Given the description of an element on the screen output the (x, y) to click on. 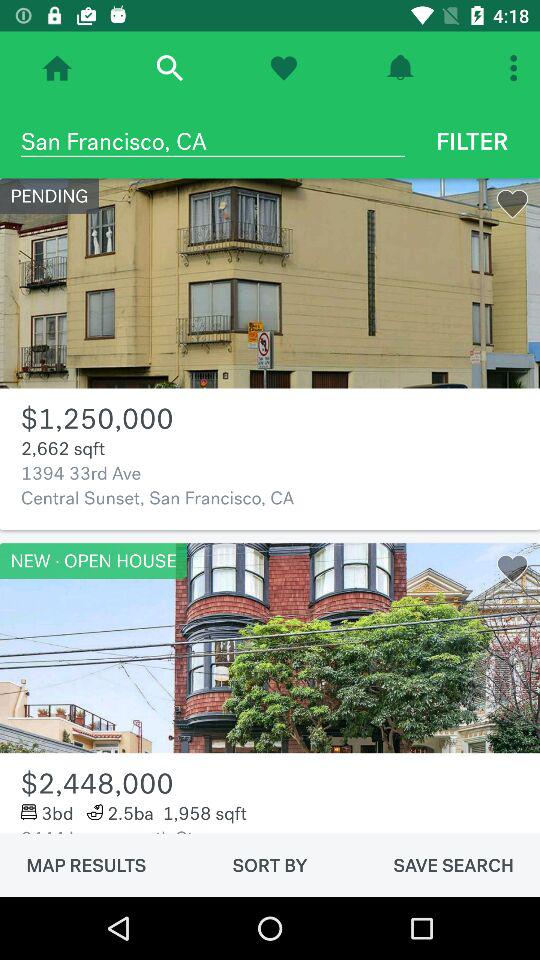
tap the item next to the sort by (85, 865)
